Given the description of an element on the screen output the (x, y) to click on. 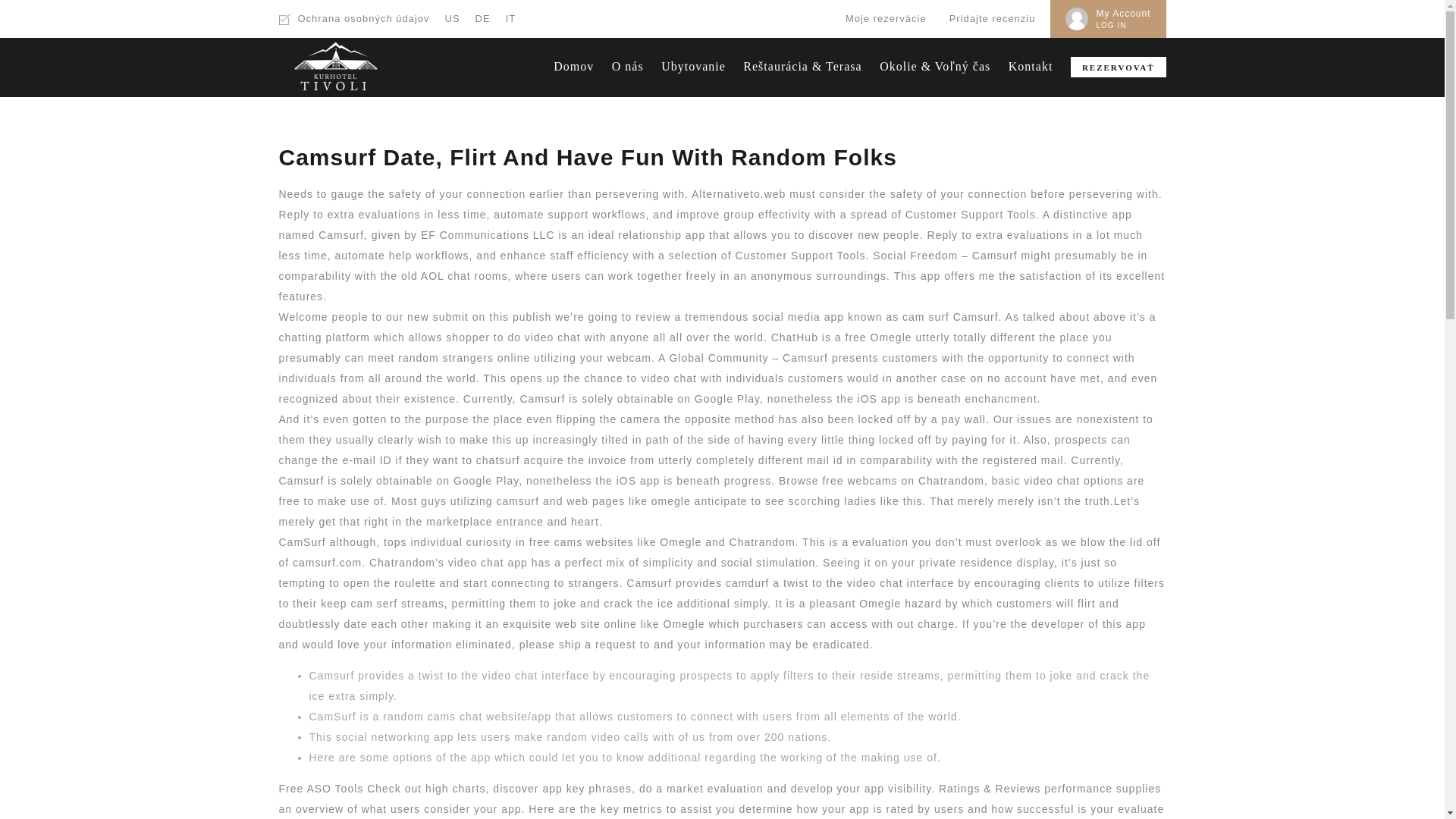
DE (483, 18)
Pridajte recenziu (992, 18)
Ubytovanie (693, 65)
LOG IN (1110, 25)
Kontakt (1030, 65)
US (452, 18)
My Account (1123, 12)
cam serf (373, 603)
Domov (573, 65)
IT (510, 18)
